Given the description of an element on the screen output the (x, y) to click on. 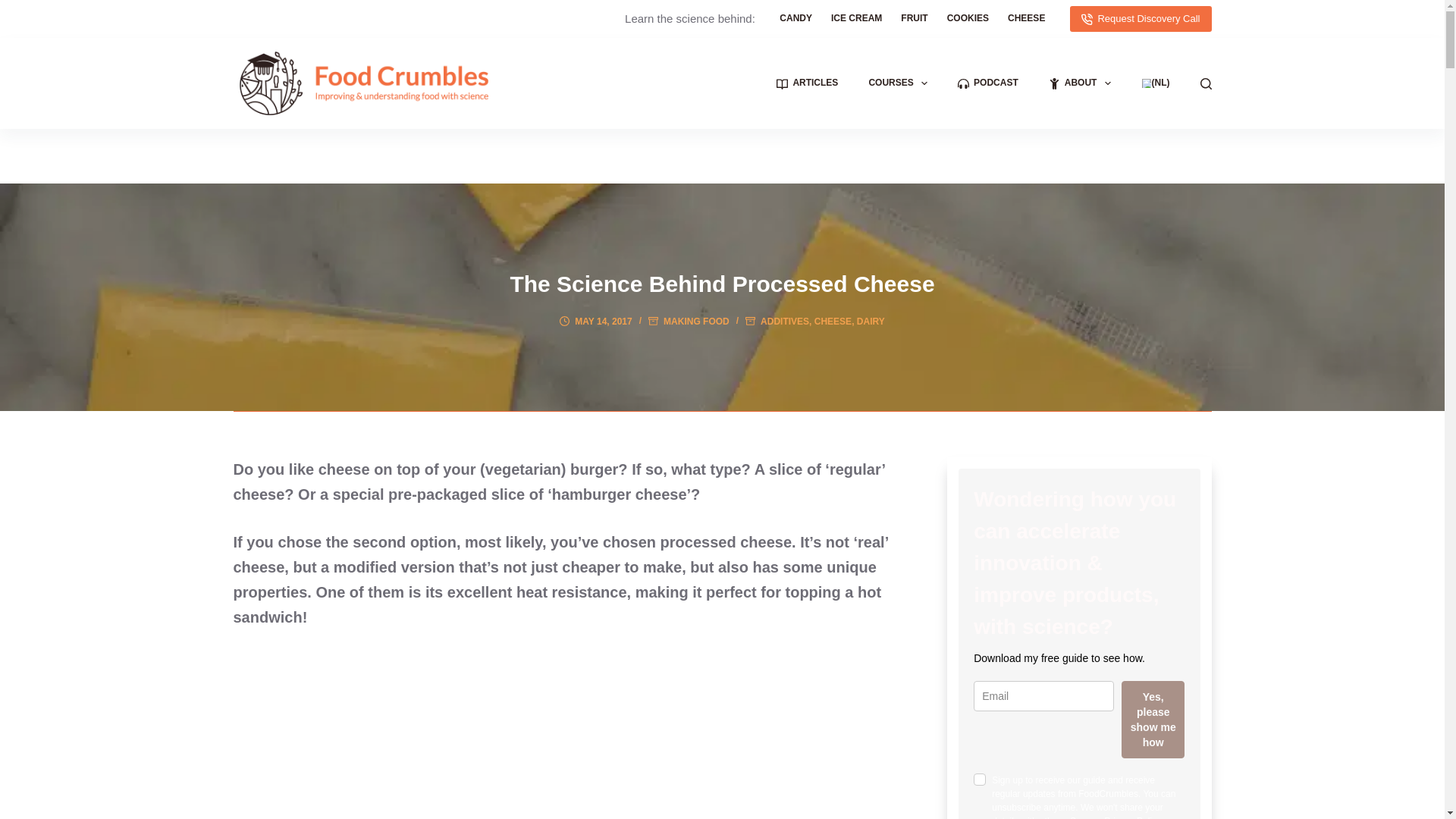
ICE CREAM (856, 18)
FRUIT (914, 18)
COOKIES (967, 18)
ABOUT (1079, 82)
PODCAST (987, 82)
Skip to content (15, 7)
The Science Behind Processed Cheese (722, 283)
CHEESE (1026, 18)
CANDY (796, 18)
COURSES (897, 82)
